Given the description of an element on the screen output the (x, y) to click on. 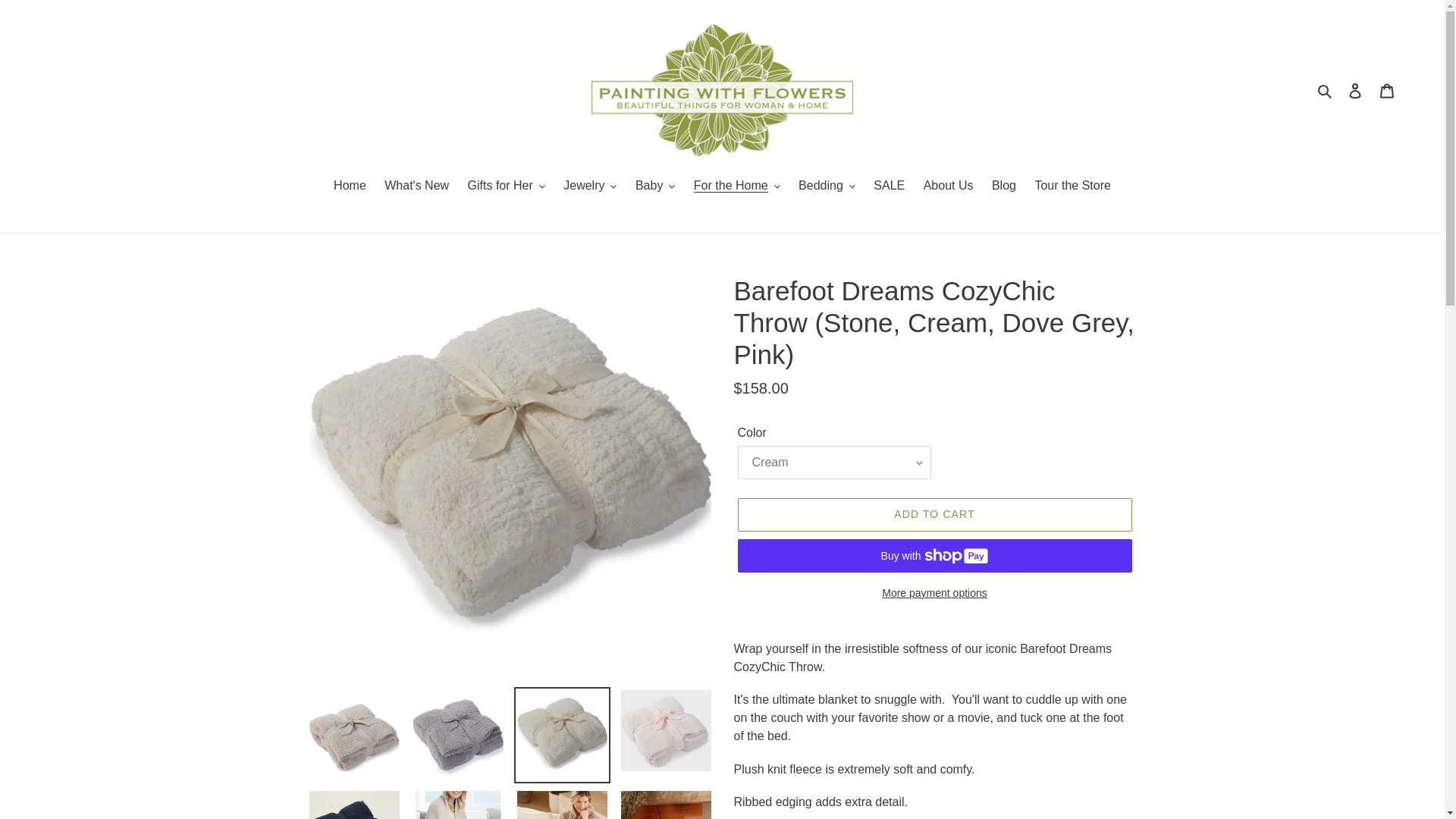
Log in (1355, 90)
Cart (1387, 90)
Search (1326, 89)
